Given the description of an element on the screen output the (x, y) to click on. 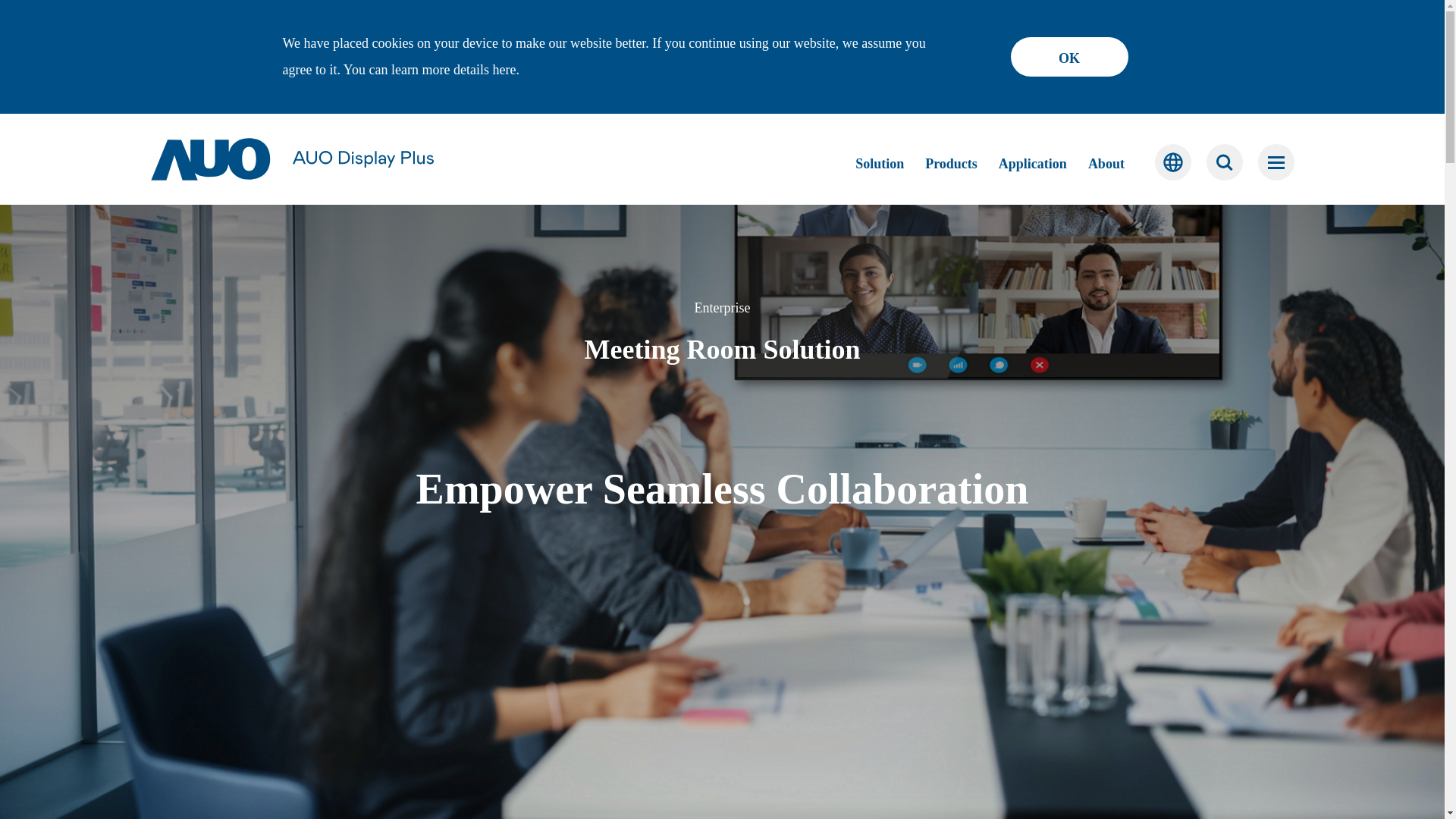
Products (950, 163)
Solution (880, 163)
here (503, 69)
logo (291, 159)
OK (1068, 56)
About (1105, 163)
Application (1032, 163)
